Given the description of an element on the screen output the (x, y) to click on. 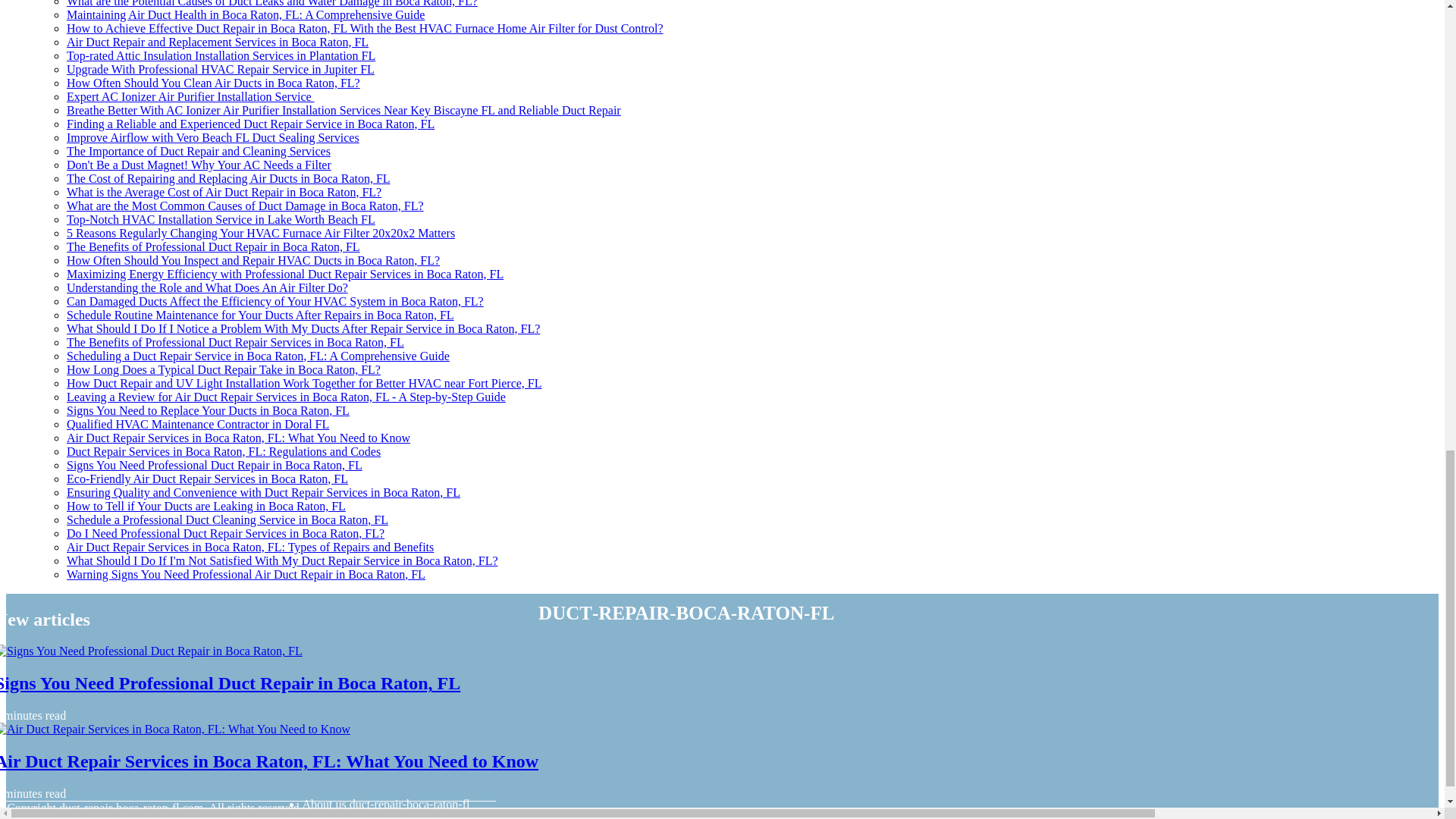
Improve Airflow with Vero Beach FL Duct Sealing Services (212, 137)
Upgrade With Professional HVAC Repair Service in Jupiter FL (220, 69)
Expert AC Ionizer Air Purifier Installation Service  (190, 96)
Don't Be a Dust Magnet! Why Your AC Needs a Filter (198, 164)
How Often Should You Clean Air Ducts in Boca Raton, FL? (212, 82)
The Importance of Duct Repair and Cleaning Services (198, 151)
Air Duct Repair and Replacement Services in Boca Raton, FL (217, 42)
